Given the description of an element on the screen output the (x, y) to click on. 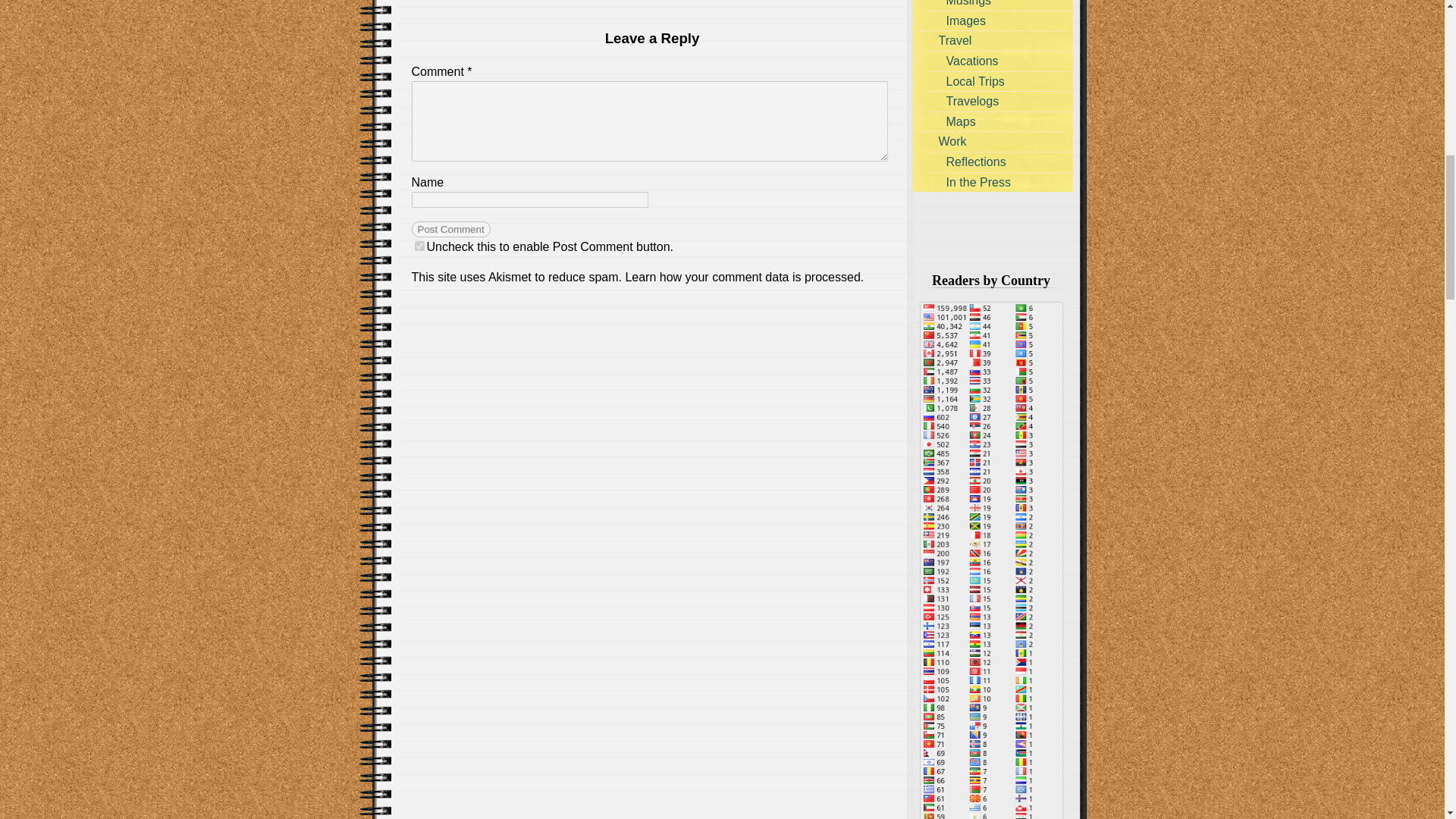
Post Comment (449, 229)
on (418, 245)
